Given the description of an element on the screen output the (x, y) to click on. 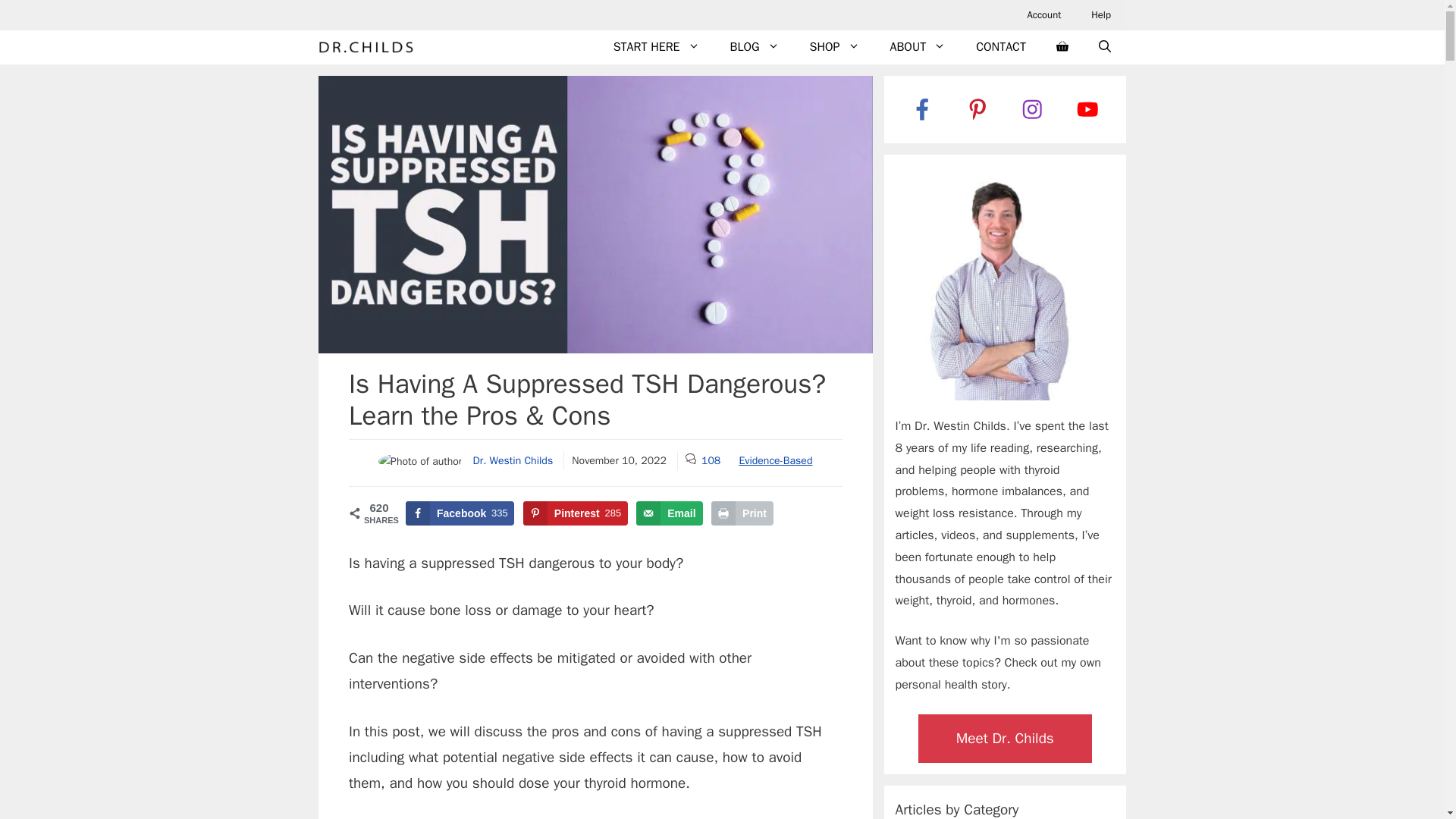
Account (1043, 15)
Help (1100, 15)
START HERE (656, 47)
Start here (656, 47)
BLOG (754, 47)
SHOP (834, 47)
Blog archive page (754, 47)
